Given the description of an element on the screen output the (x, y) to click on. 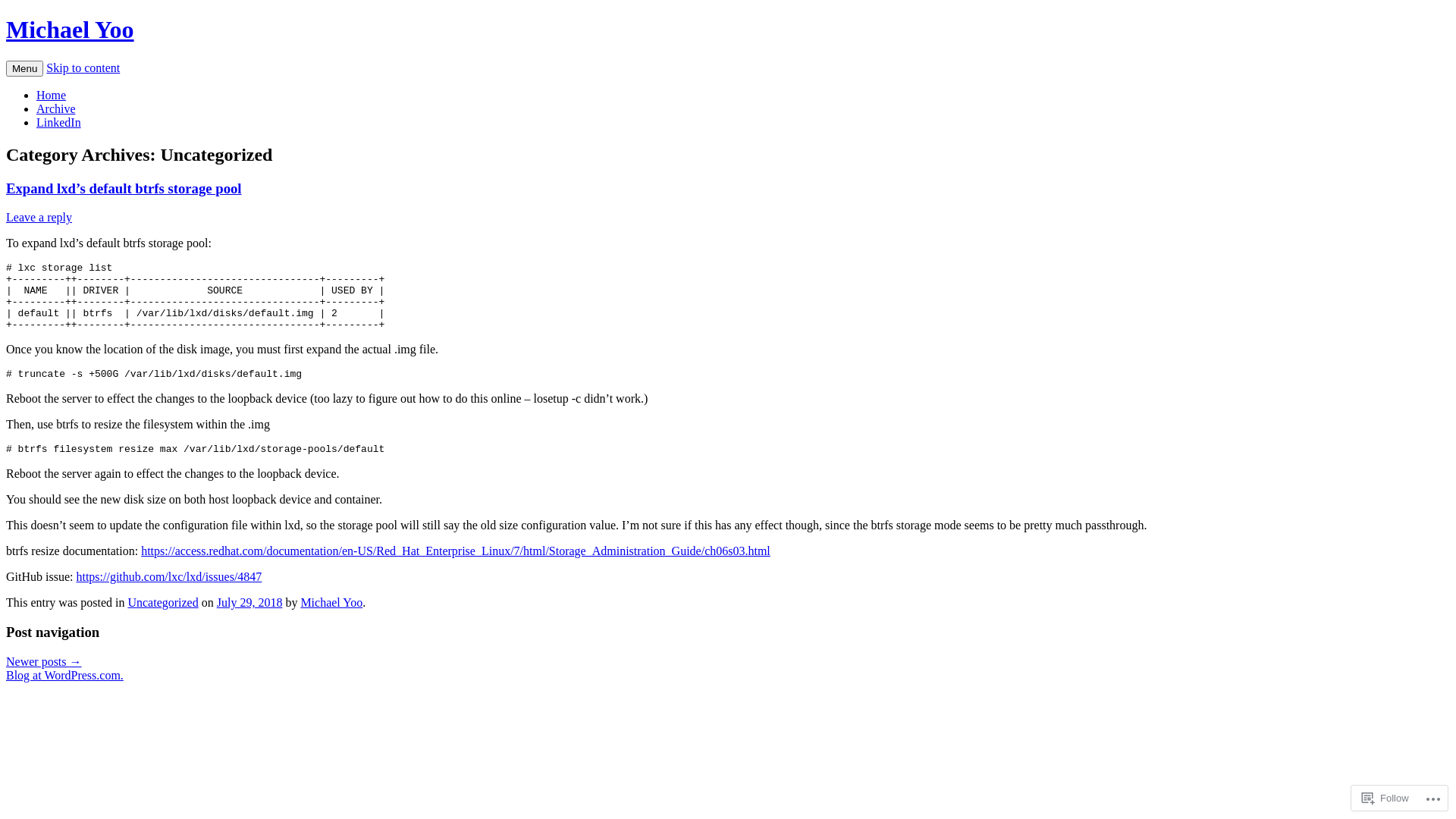
https://github.com/lxc/lxd/issues/4847 Element type: text (168, 576)
Uncategorized Element type: text (162, 602)
Skip to content Element type: text (82, 67)
LinkedIn Element type: text (58, 122)
Archive Element type: text (55, 108)
Menu Element type: text (24, 68)
Follow Element type: text (1385, 797)
Michael Yoo Element type: text (331, 602)
Leave a reply Element type: text (39, 216)
Michael Yoo Element type: text (70, 29)
Home Element type: text (50, 94)
July 29, 2018 Element type: text (249, 602)
Blog at WordPress.com. Element type: text (64, 674)
